Given the description of an element on the screen output the (x, y) to click on. 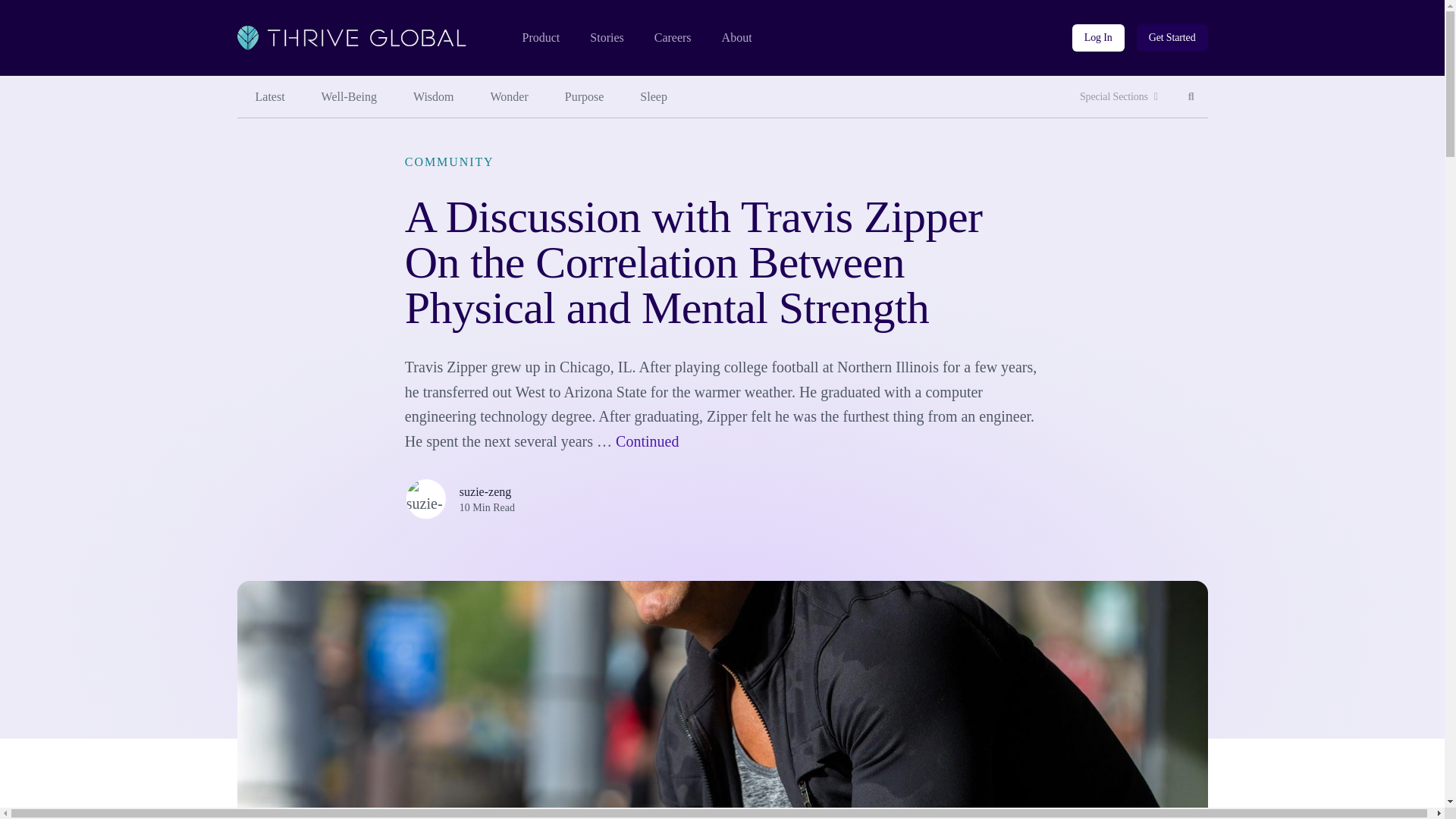
About (737, 37)
Wisdom (432, 96)
Well-Being (348, 96)
Log In (1097, 37)
Special Sections (1118, 97)
Careers (672, 37)
Latest (268, 96)
Sleep (653, 96)
Wonder (1191, 97)
